Given the description of an element on the screen output the (x, y) to click on. 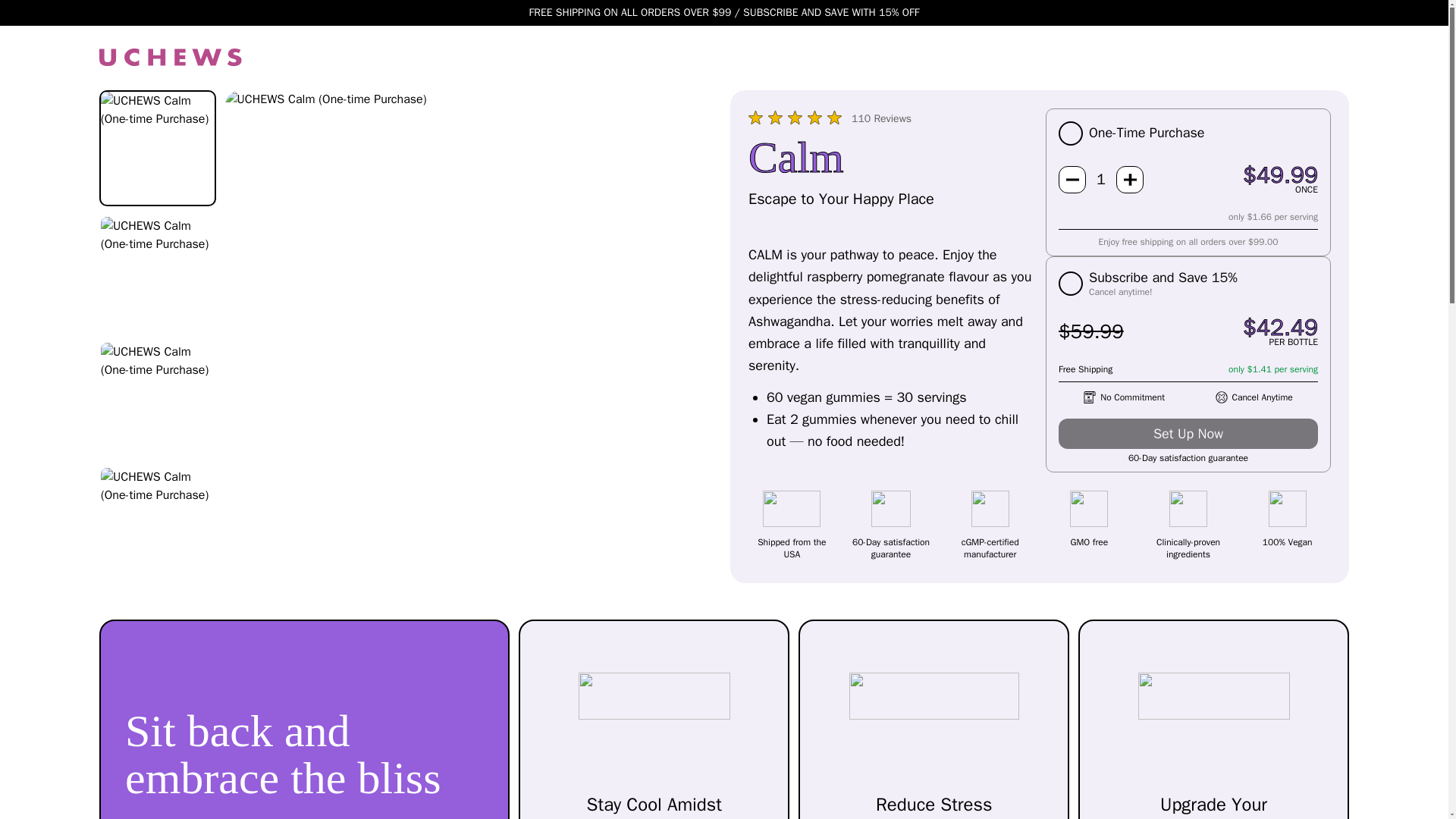
Set Up Now (1187, 433)
UCHEWS (724, 57)
1 (1101, 178)
UCHEWS (170, 57)
